Given the description of an element on the screen output the (x, y) to click on. 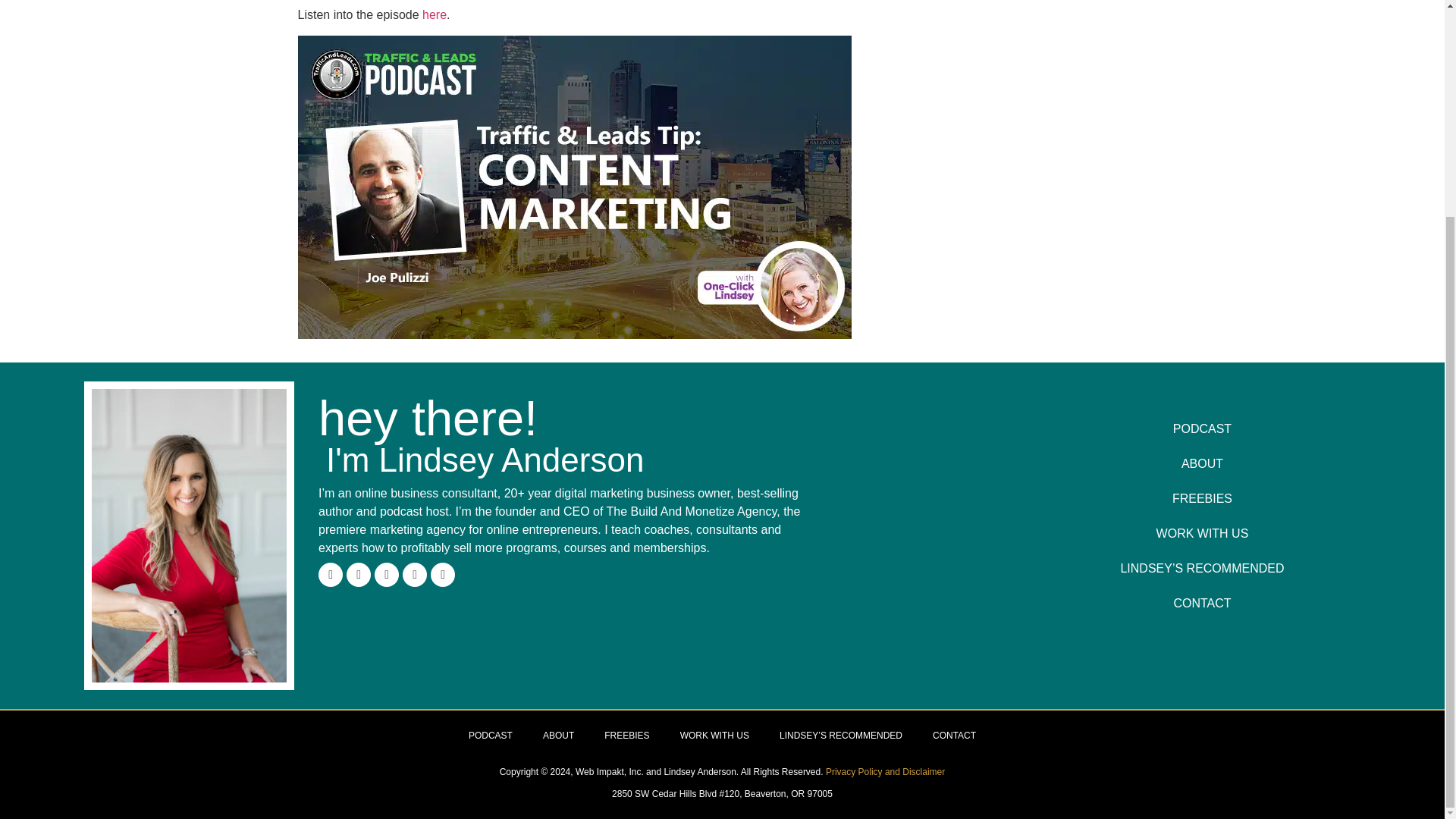
PODCAST (1202, 428)
ABOUT (1202, 463)
here (434, 14)
FREEBIES (1202, 498)
